Given the description of an element on the screen output the (x, y) to click on. 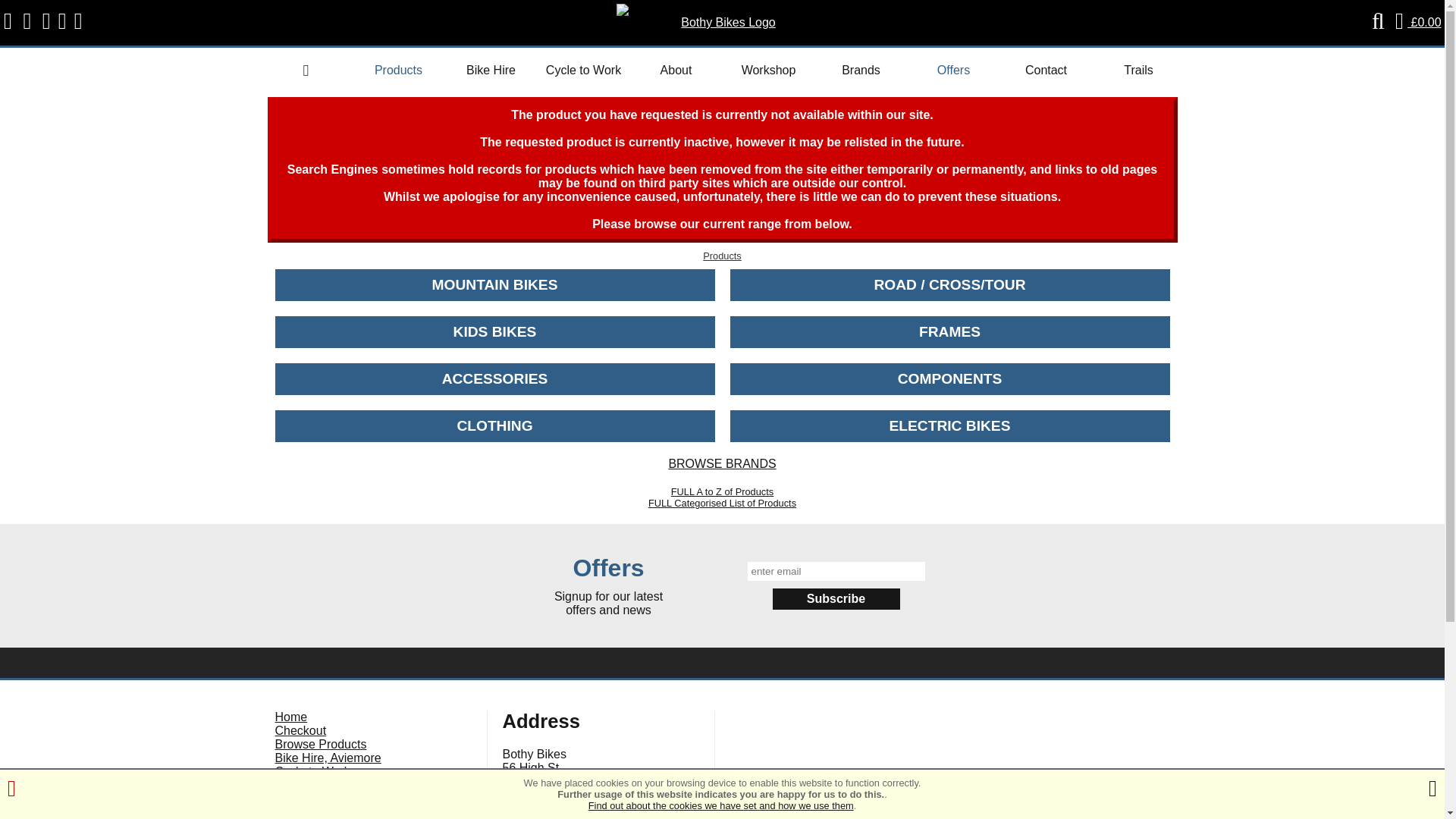
About (675, 72)
Brands (860, 72)
Products (722, 255)
Trails (1138, 72)
Cycle to Work (582, 72)
Browse Products (398, 72)
Workshop (767, 72)
KIDS BIKES (494, 332)
MOUNTAIN BIKES (494, 285)
Cycle to Work (582, 72)
